Given the description of an element on the screen output the (x, y) to click on. 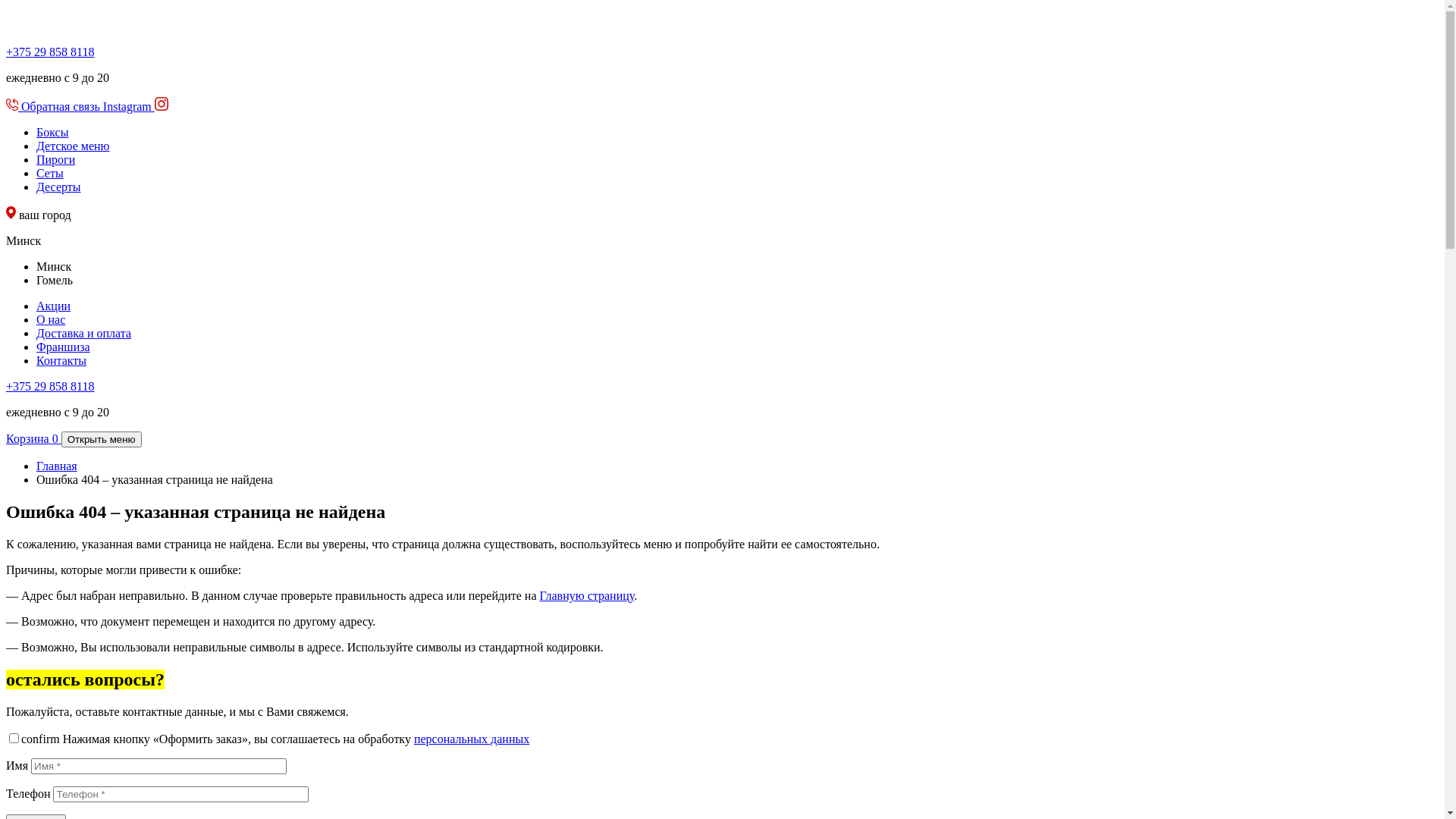
+375 29 858 8118 Element type: text (50, 385)
+375 29 858 8118 Element type: text (50, 51)
Instagram Element type: text (135, 106)
